Given the description of an element on the screen output the (x, y) to click on. 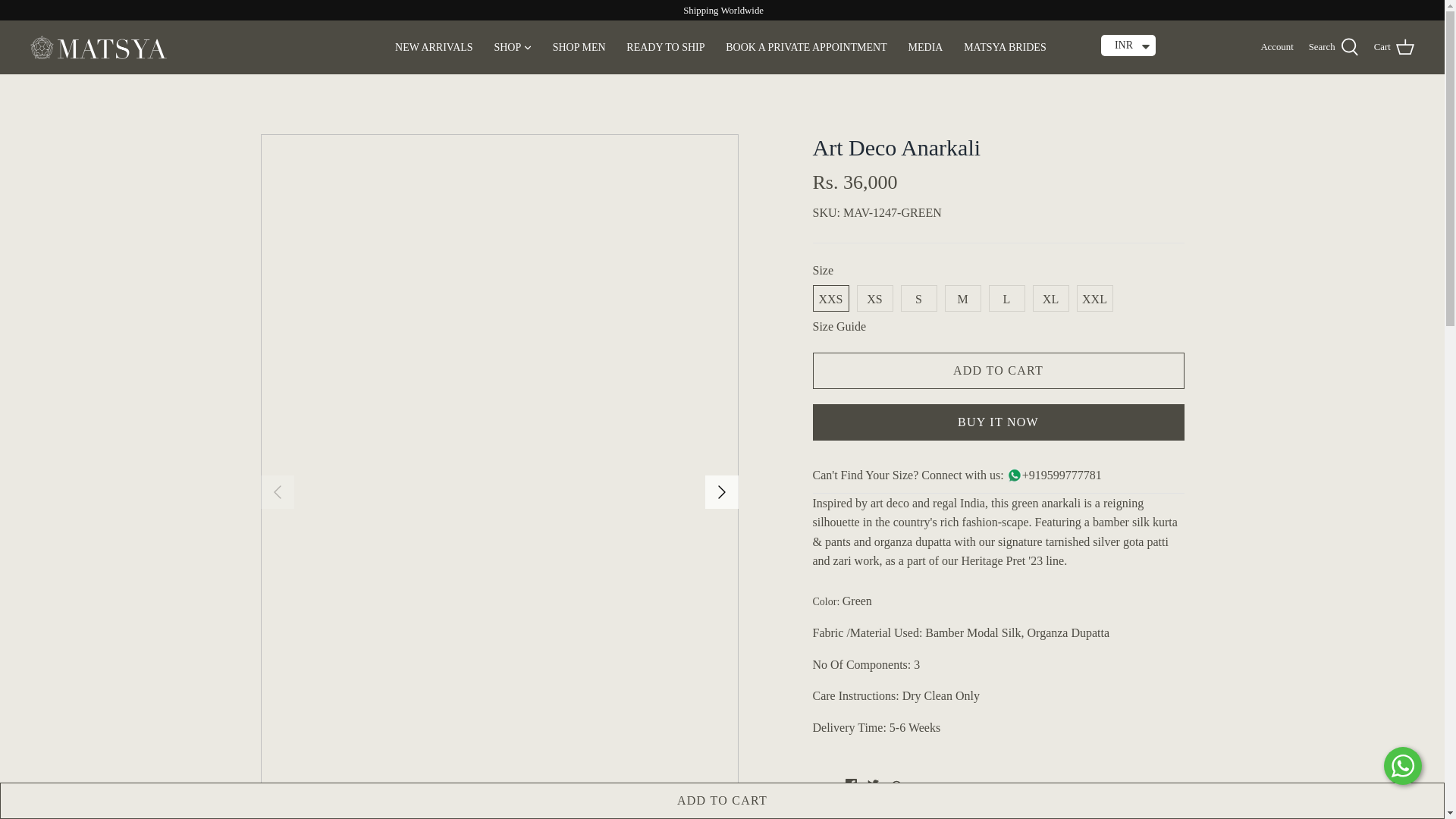
SHOP (506, 46)
MATSYA BRIDES (1005, 46)
BOOK A PRIVATE APPOINTMENT (806, 46)
LEFT (276, 491)
Facebook (851, 784)
Search (1333, 46)
Account (1276, 46)
Twitter (873, 784)
SHOP MEN (578, 46)
Add to Cart (998, 370)
READY TO SHIP (665, 46)
NEW ARRIVALS (433, 46)
RIGHT (721, 491)
Matsya World (98, 47)
whatsapp (896, 785)
